Given the description of an element on the screen output the (x, y) to click on. 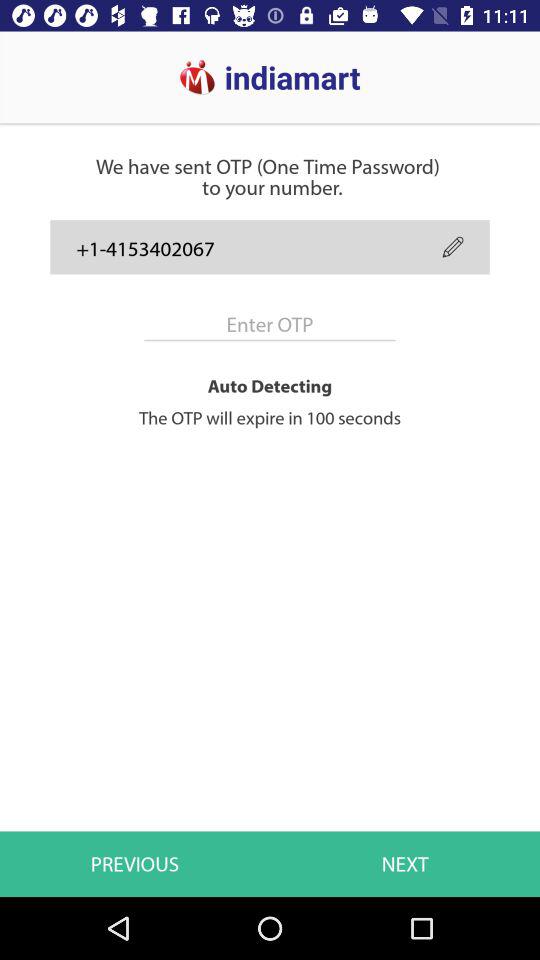
turn on the icon to the right of the previous (405, 863)
